Given the description of an element on the screen output the (x, y) to click on. 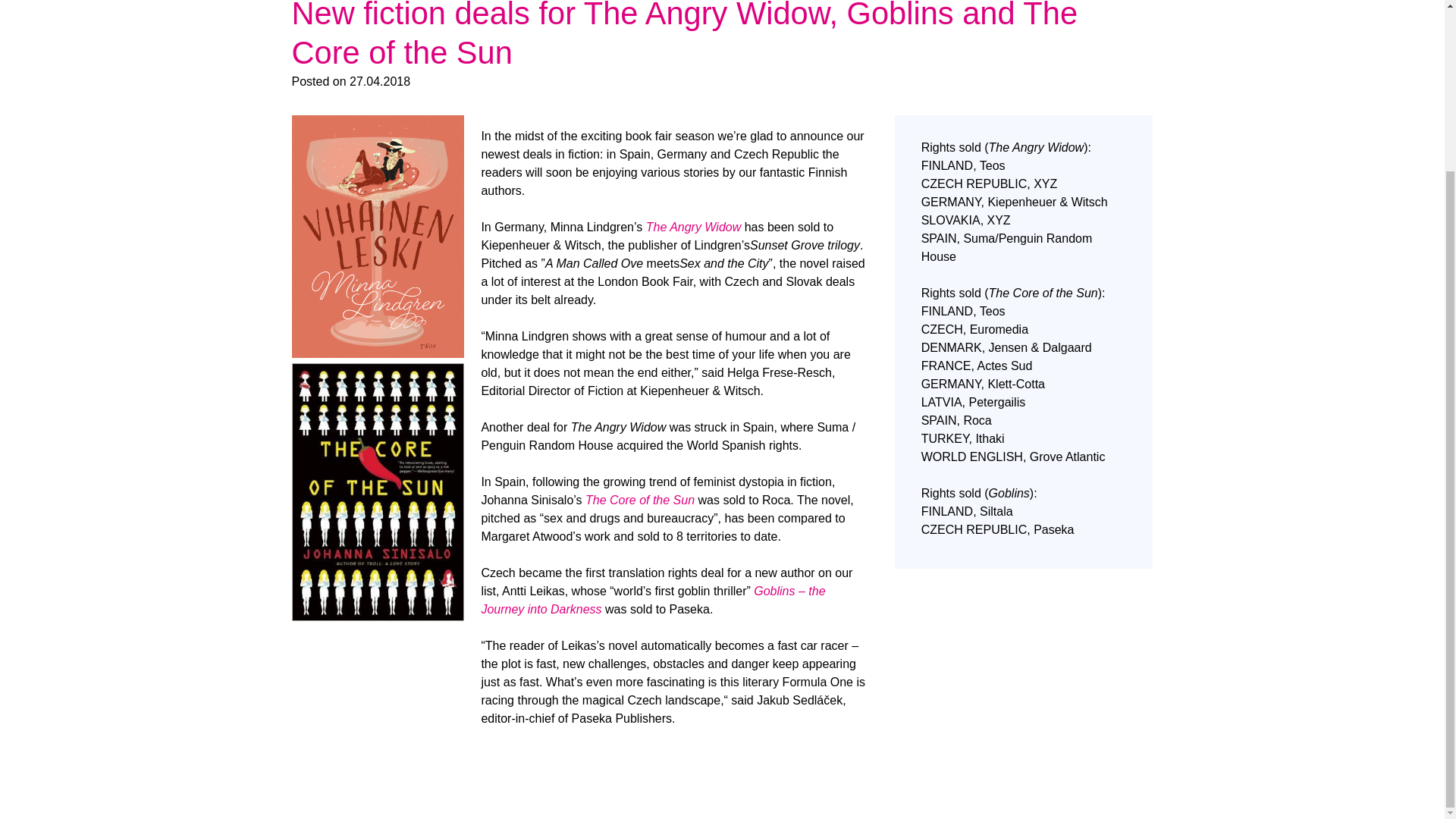
The Angry Widow (693, 226)
The Core of the Sun (639, 499)
